Given the description of an element on the screen output the (x, y) to click on. 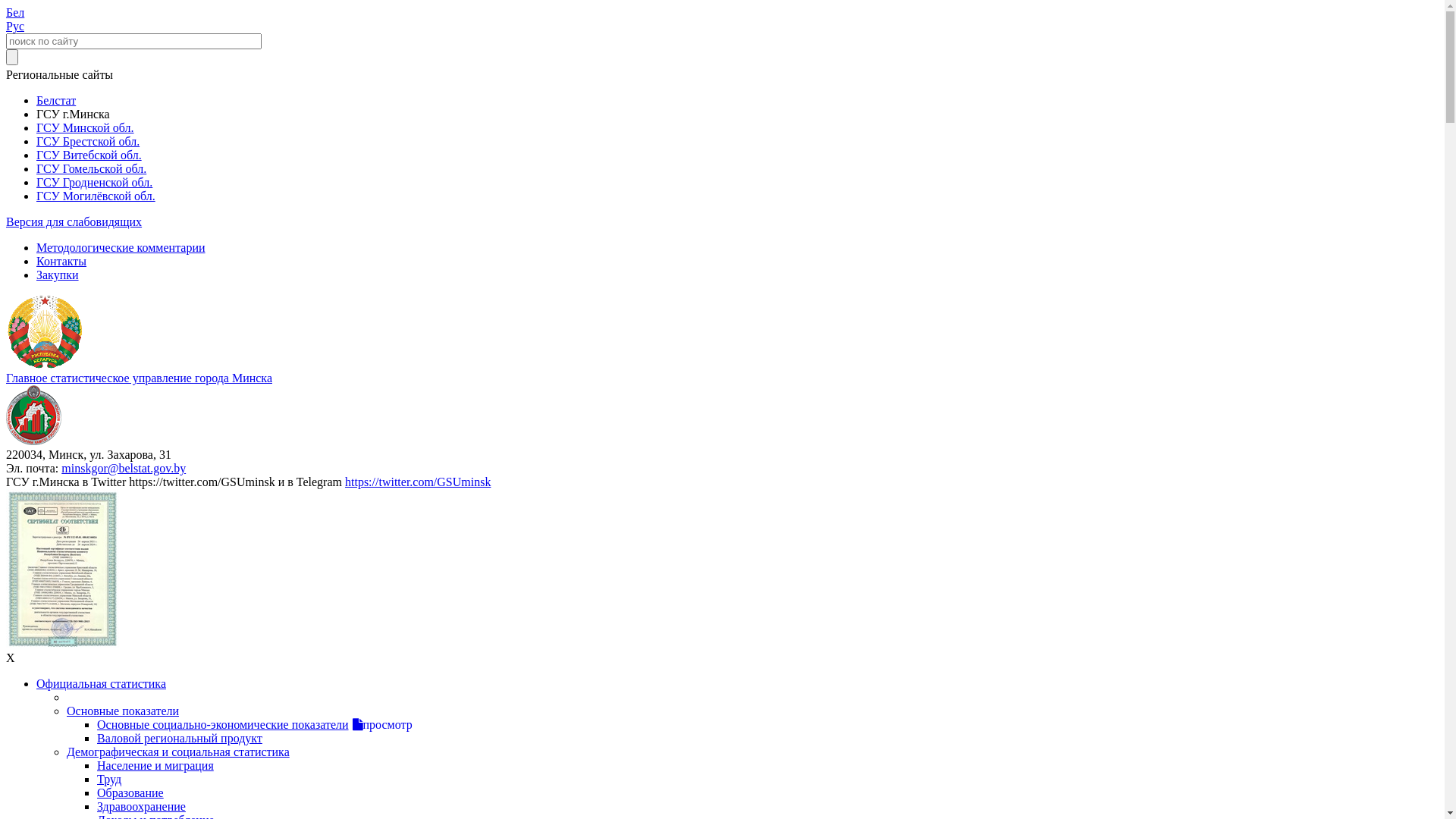
minskgor@belstat.gov.by Element type: text (123, 467)
https://twitter.com/GSUminsk Element type: text (417, 481)
